Given the description of an element on the screen output the (x, y) to click on. 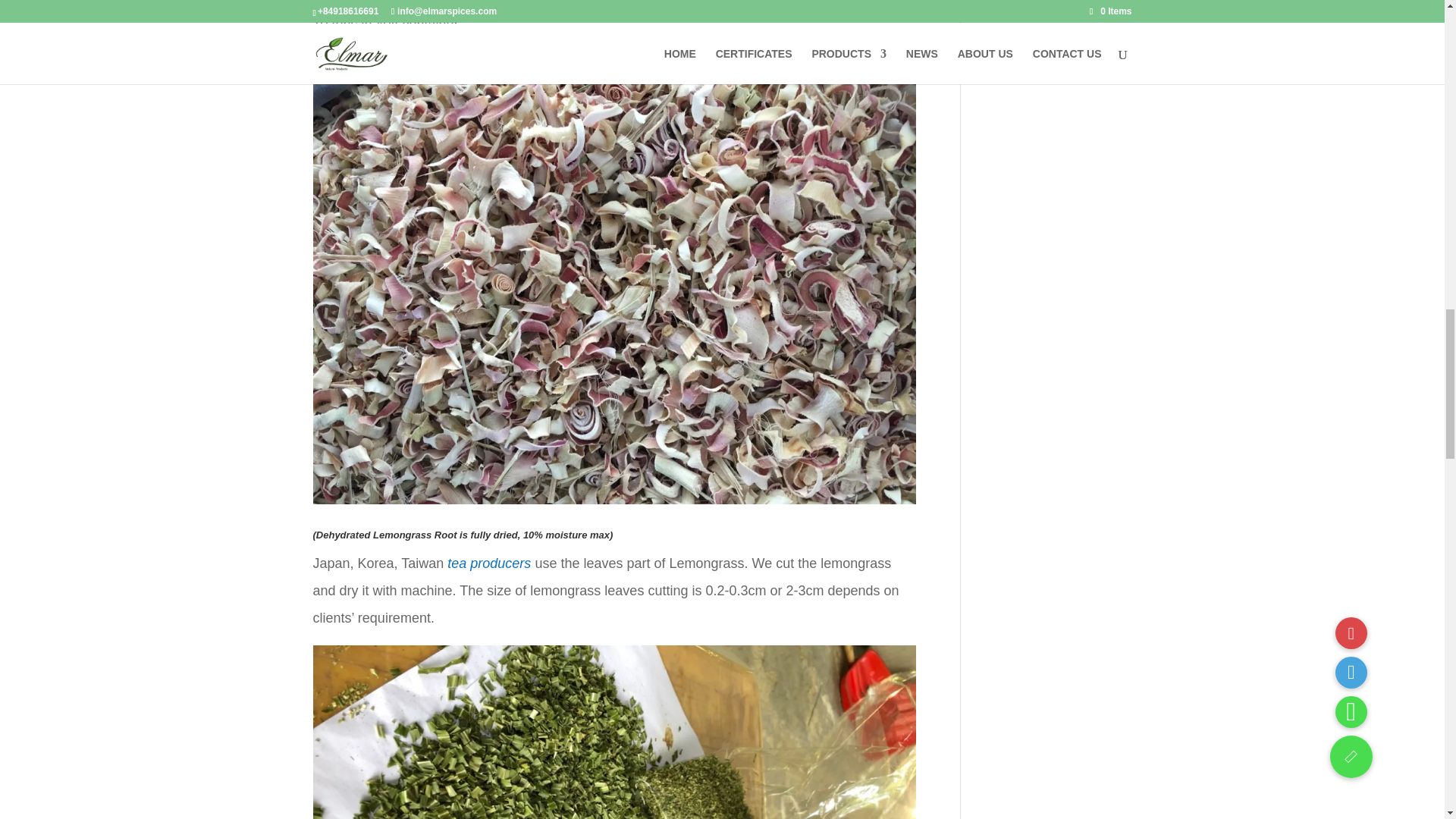
tea producers (488, 563)
